Given the description of an element on the screen output the (x, y) to click on. 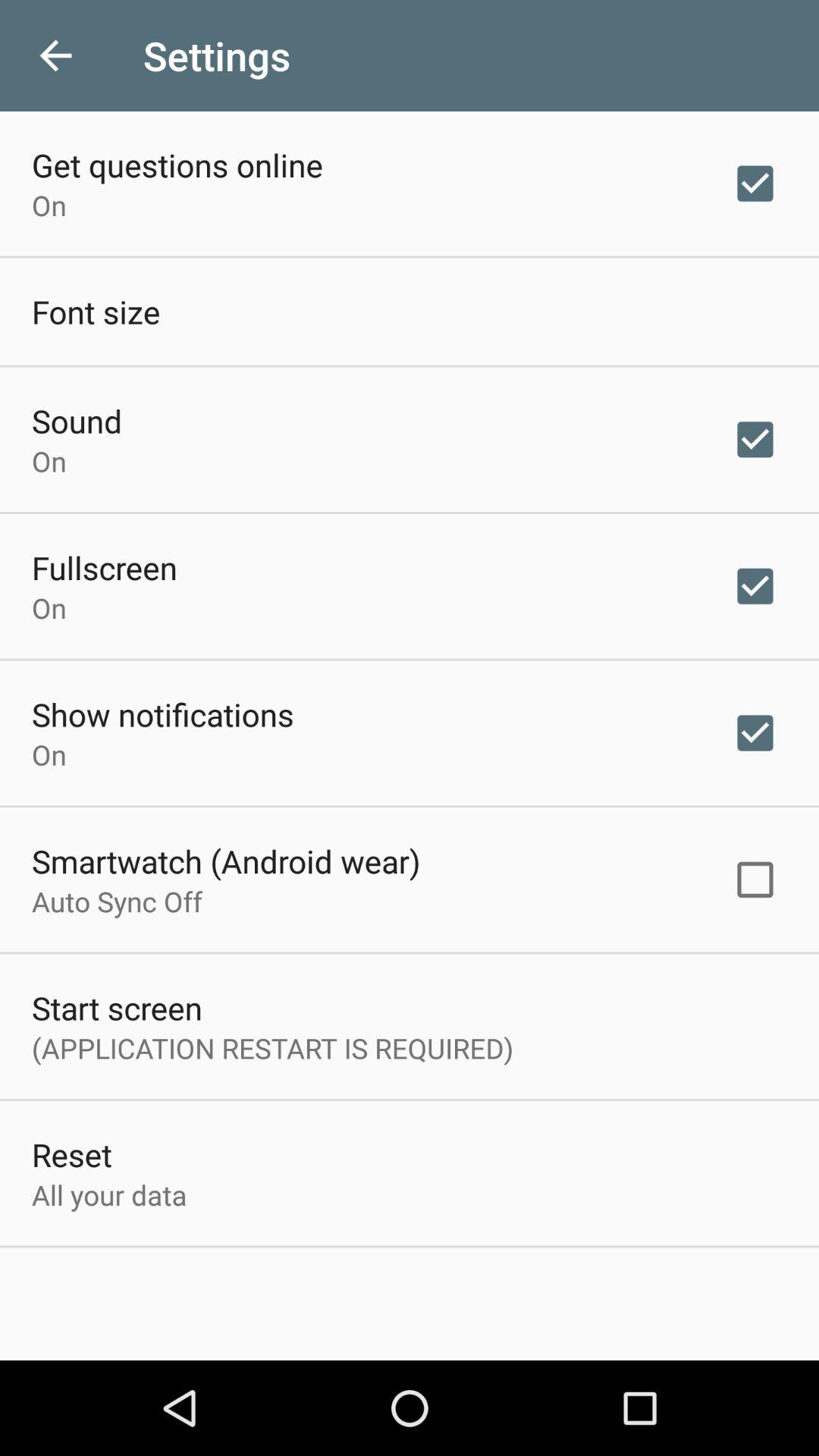
turn off the icon above the on (177, 164)
